Given the description of an element on the screen output the (x, y) to click on. 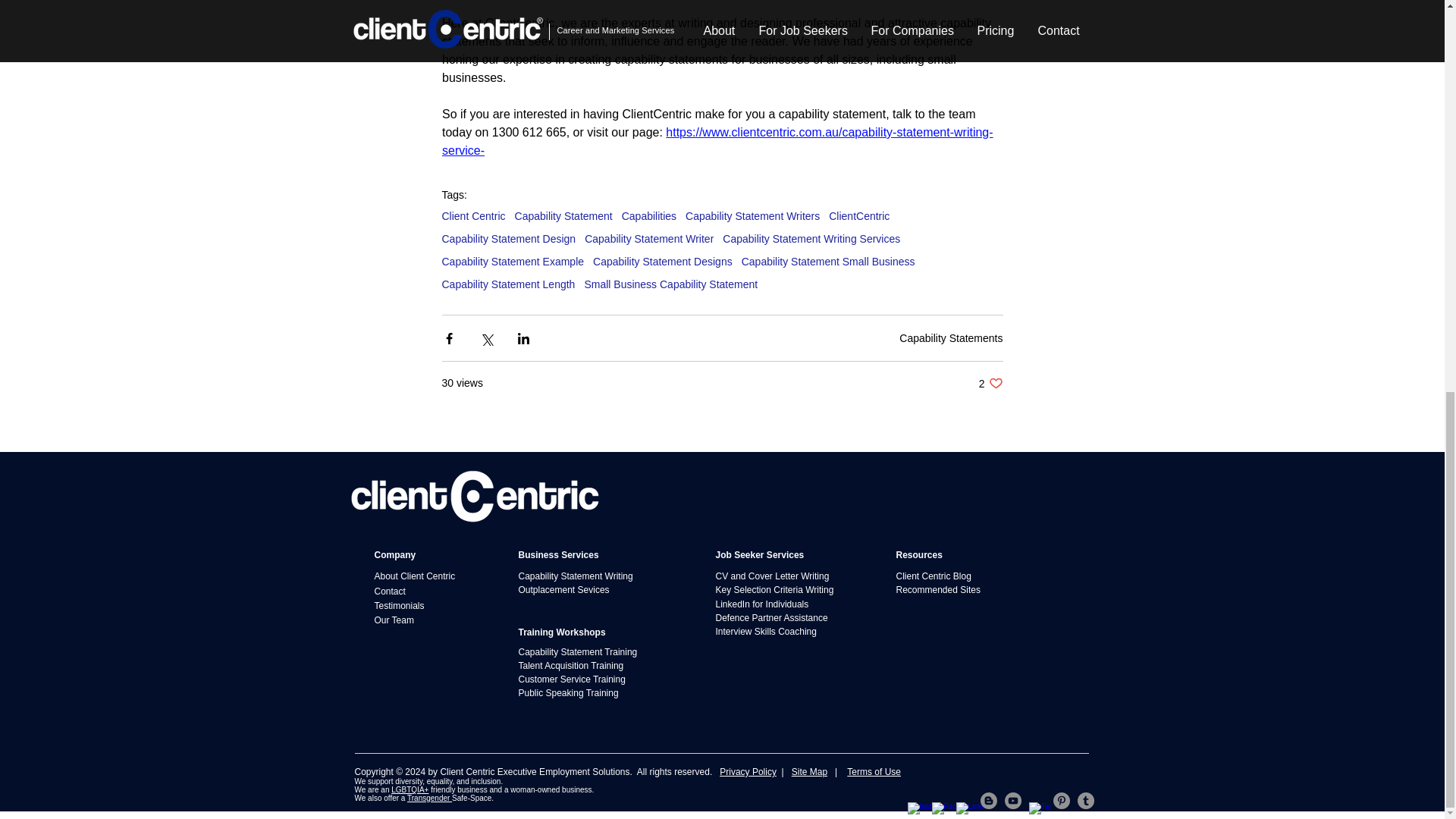
Capability Statement Writers (990, 382)
Capability Statement Writing Services (752, 215)
Capabilities (810, 238)
Capability Statement Length (649, 215)
Testimonials (508, 284)
Our Team (410, 605)
About Client Centric (433, 620)
Capability Statement Writing (433, 576)
Client Centric (591, 576)
Capability Statement Example (473, 215)
Contact (512, 261)
Capability Statement Writer (410, 591)
Capability Statement Small Business (649, 238)
Capability Statement Design (828, 261)
